Given the description of an element on the screen output the (x, y) to click on. 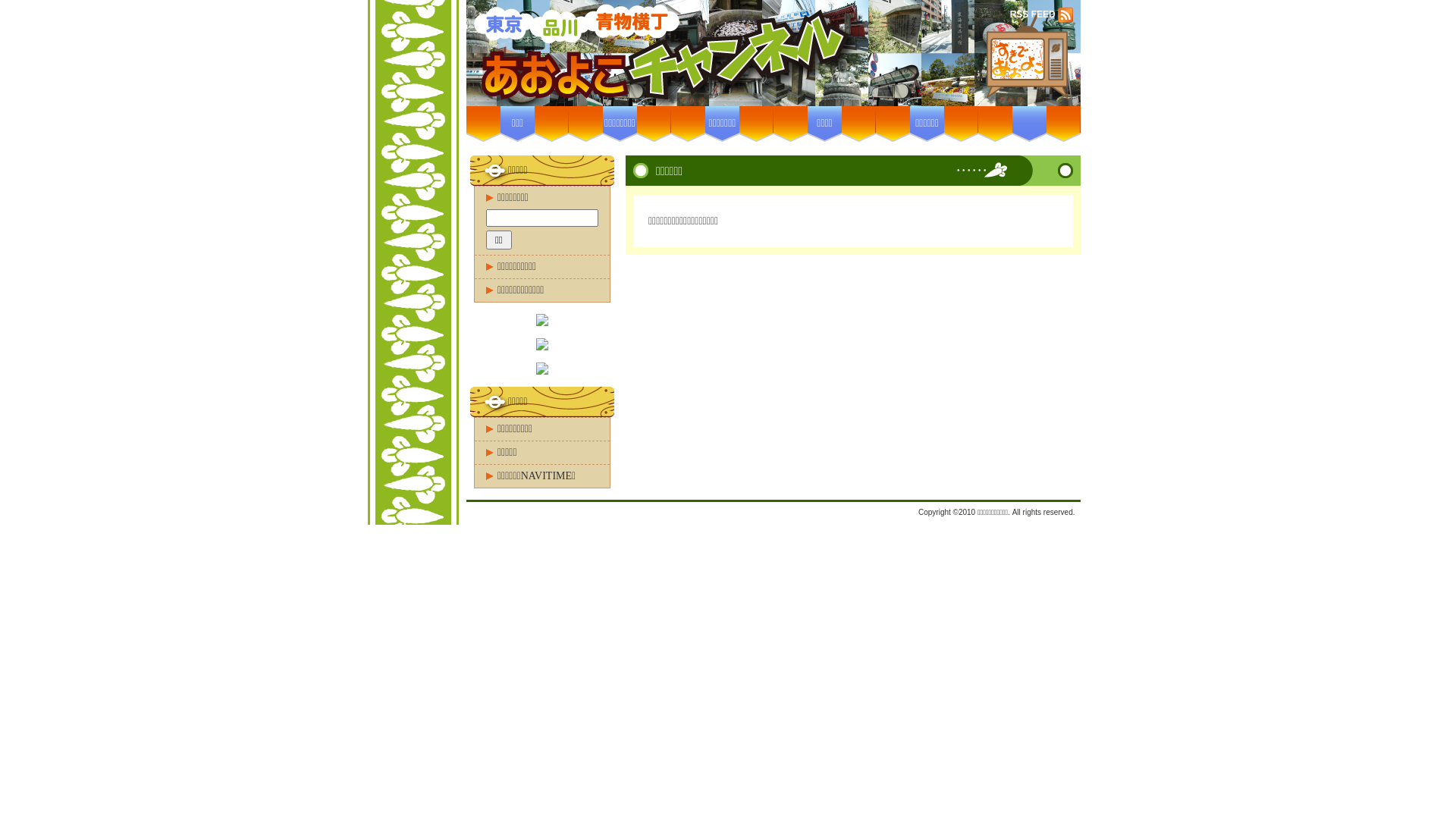
RSS FEED Element type: text (1033, 14)
